Given the description of an element on the screen output the (x, y) to click on. 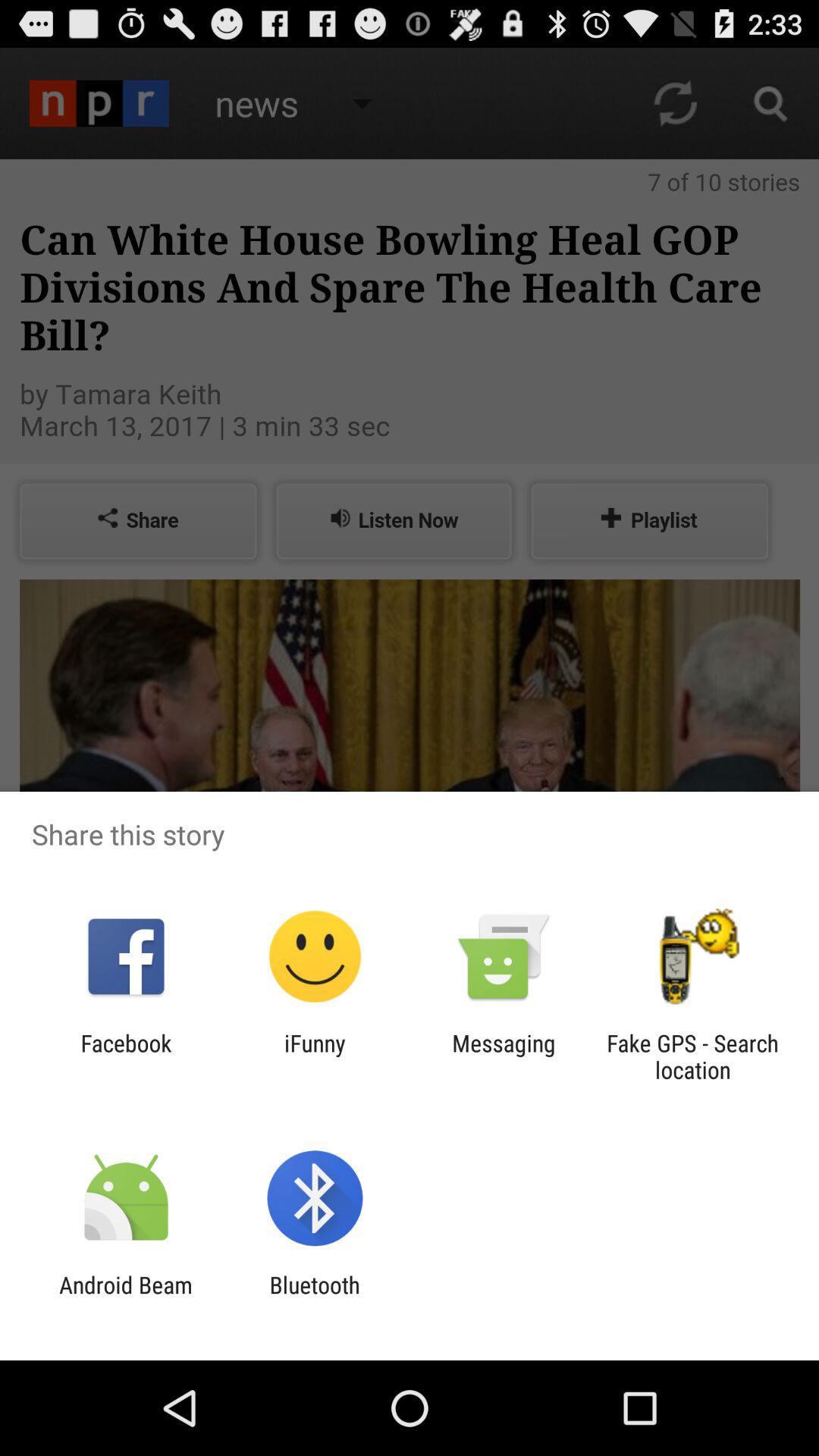
flip to facebook item (125, 1056)
